Given the description of an element on the screen output the (x, y) to click on. 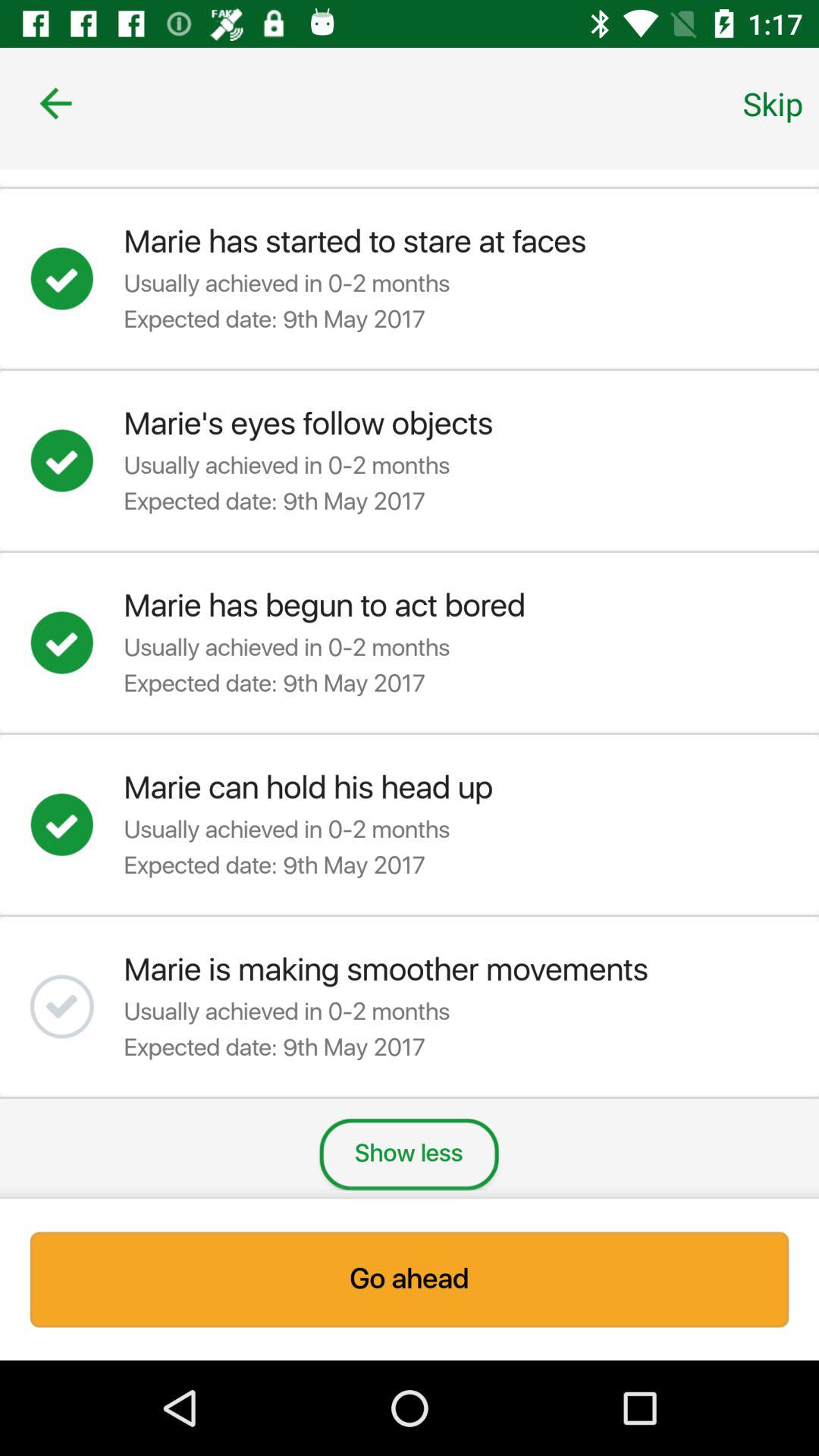
select item below the expected date 9th item (408, 1154)
